Given the description of an element on the screen output the (x, y) to click on. 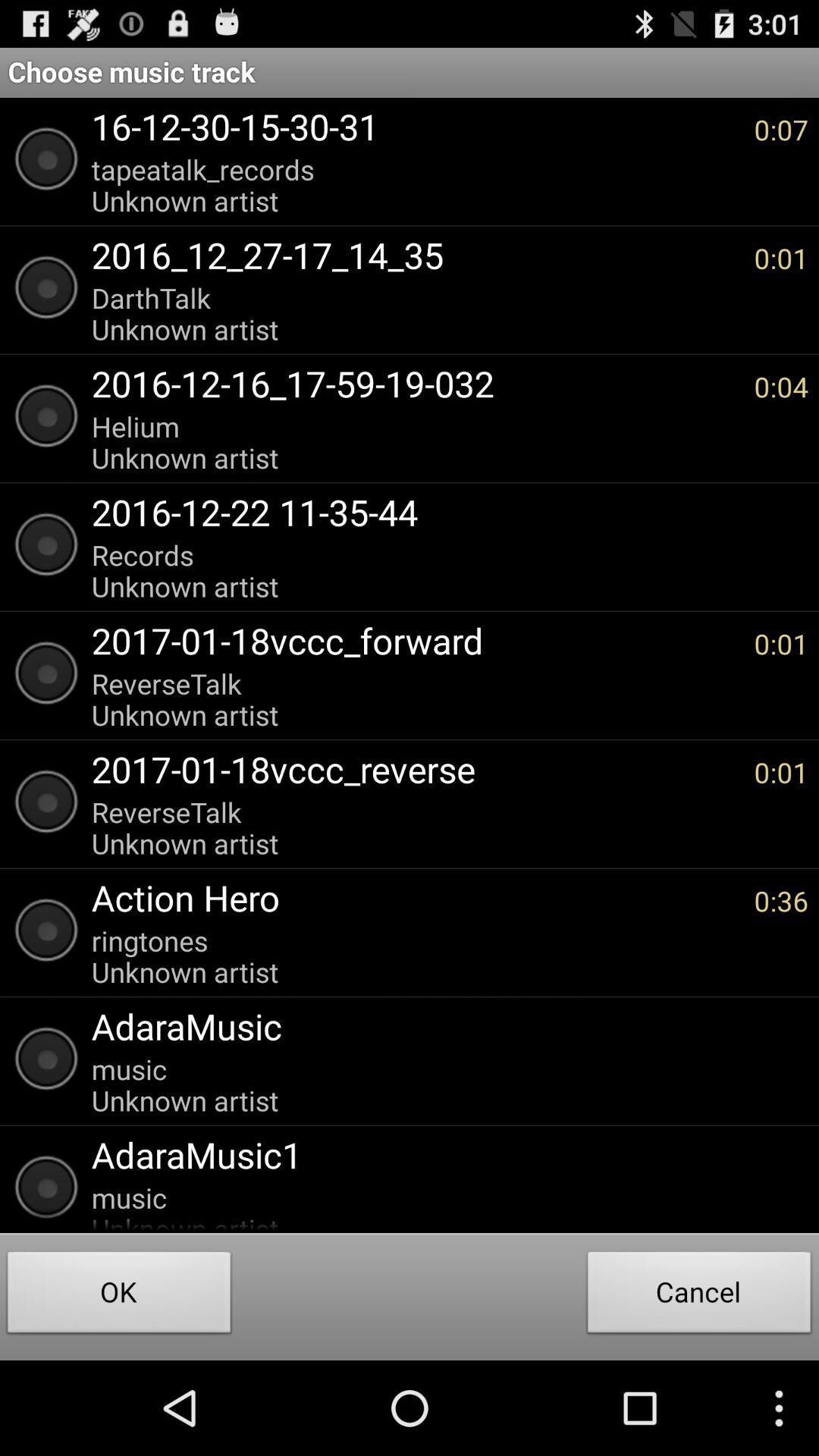
jump to the ok item (119, 1296)
